Given the description of an element on the screen output the (x, y) to click on. 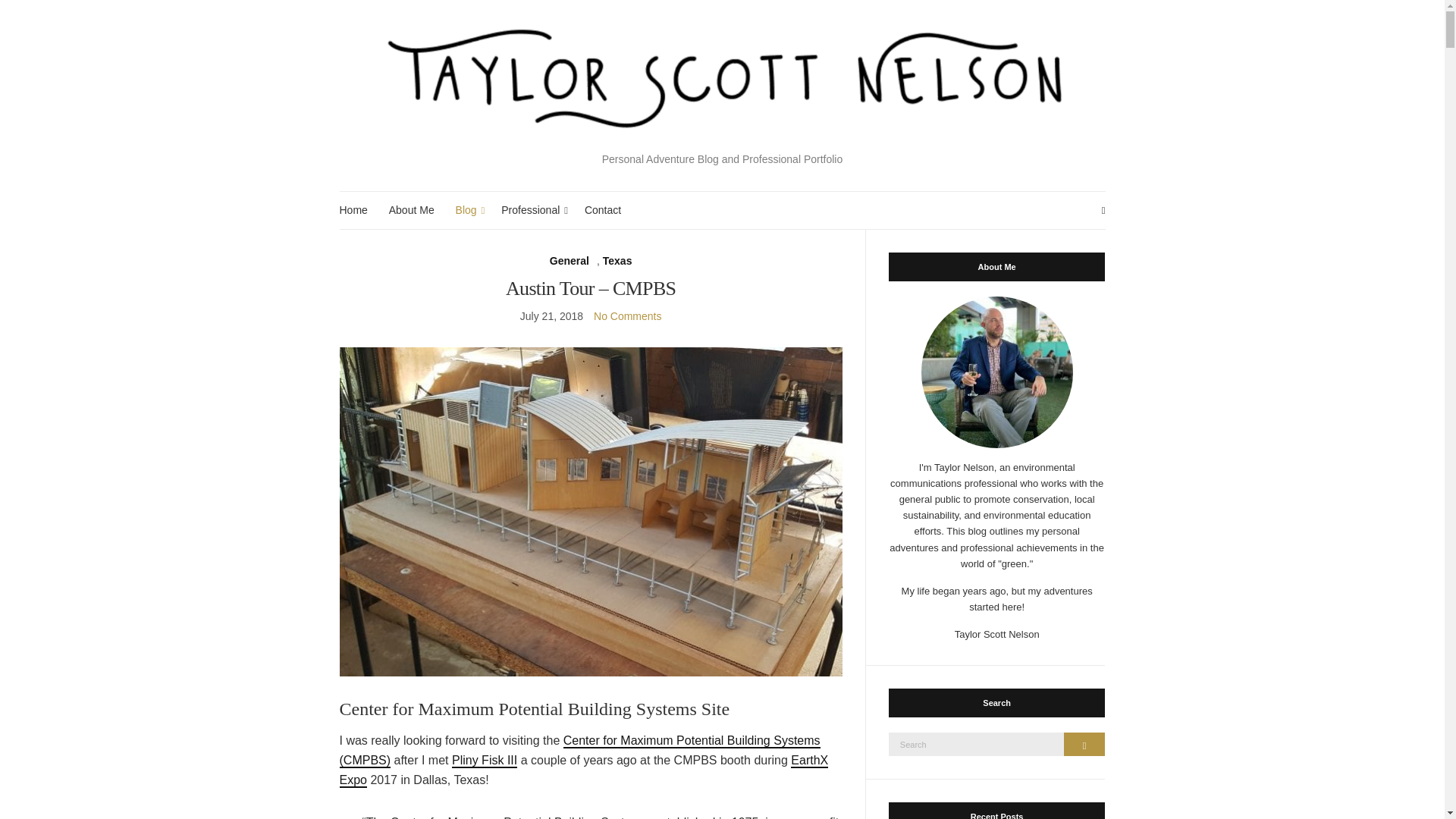
Home (353, 210)
General (569, 261)
Pliny Fisk III (483, 760)
No Comments (627, 316)
Blog (467, 210)
Professional (531, 210)
Contact (603, 210)
About Me (410, 210)
EarthX Expo (583, 770)
Texas (616, 261)
